Given the description of an element on the screen output the (x, y) to click on. 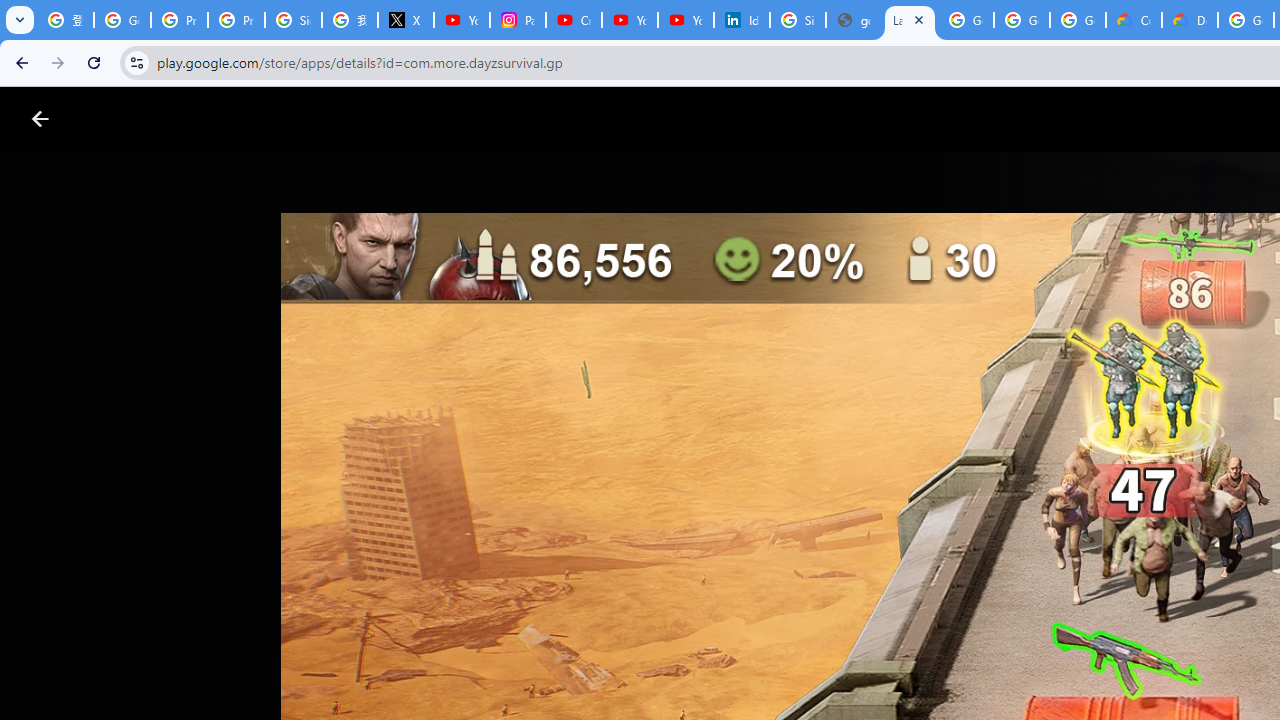
Games (248, 119)
Privacy Help Center - Policies Help (179, 20)
Close screenshot viewer (39, 119)
Privacy Help Center - Policies Help (235, 20)
